Given the description of an element on the screen output the (x, y) to click on. 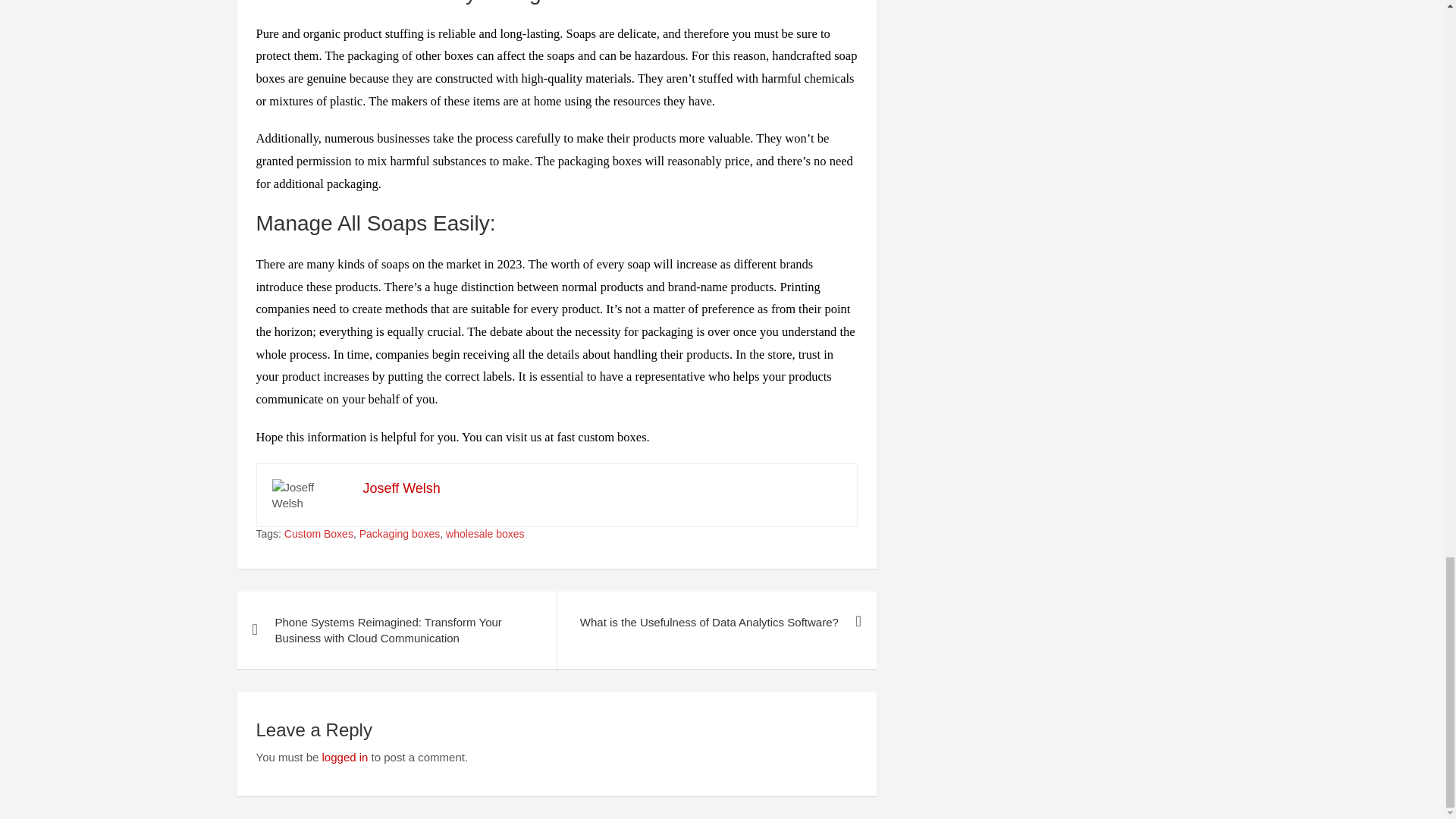
Joseff Welsh (400, 488)
logged in (344, 757)
Custom Boxes (318, 534)
Packaging boxes (400, 534)
What is the Usefulness of Data Analytics Software? (716, 621)
wholesale boxes (484, 534)
